Given the description of an element on the screen output the (x, y) to click on. 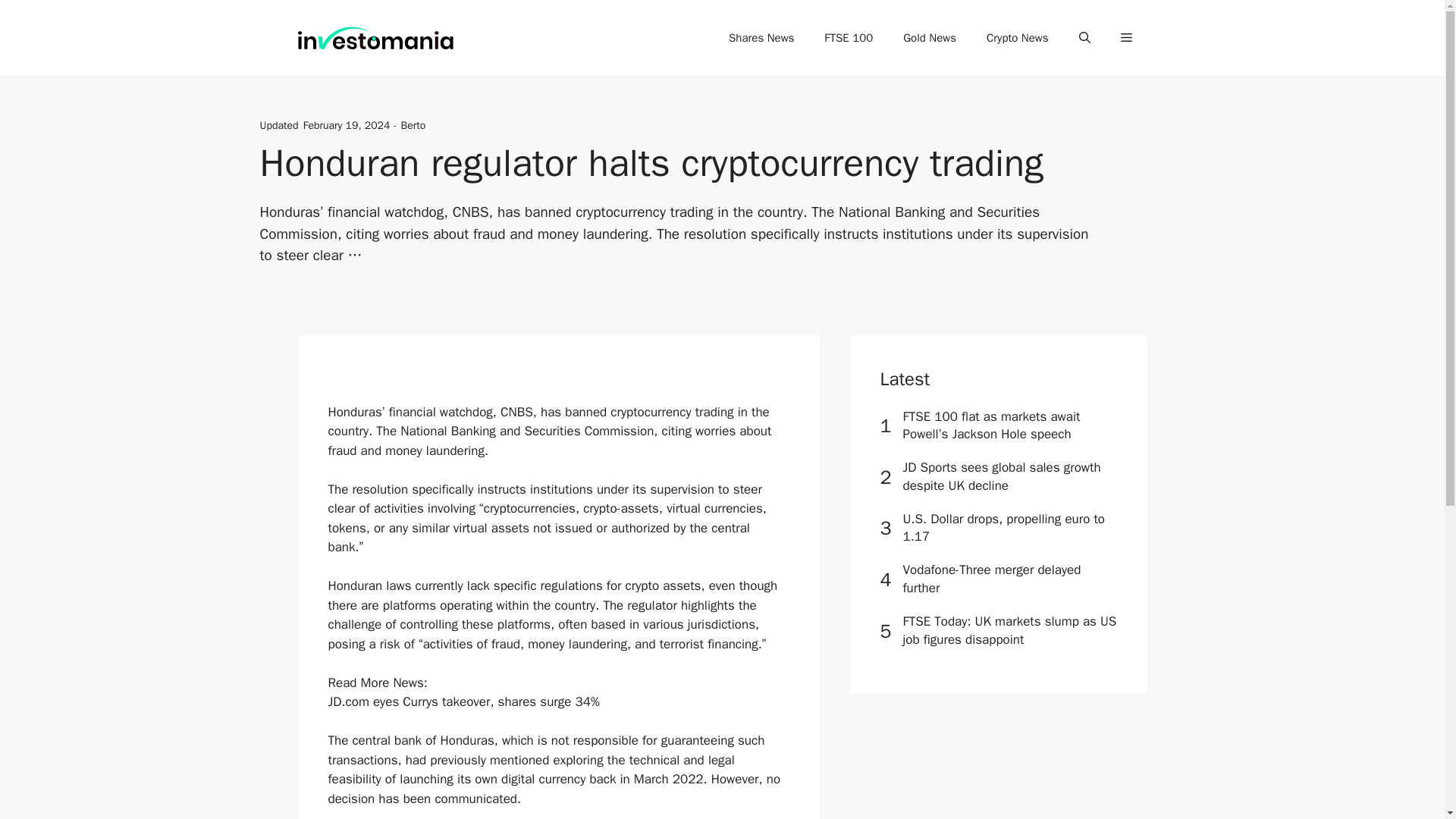
FTSE 100 (848, 37)
Crypto News (1017, 37)
U.S. Dollar drops, propelling euro to 1.17 (1003, 528)
Shares News (761, 37)
Berto (413, 124)
Gold News (929, 37)
Vodafone-Three merger delayed further (991, 578)
FTSE Today: UK markets slump as US job figures disappoint (1009, 630)
JD Sports sees global sales growth despite UK decline (1001, 476)
